Given the description of an element on the screen output the (x, y) to click on. 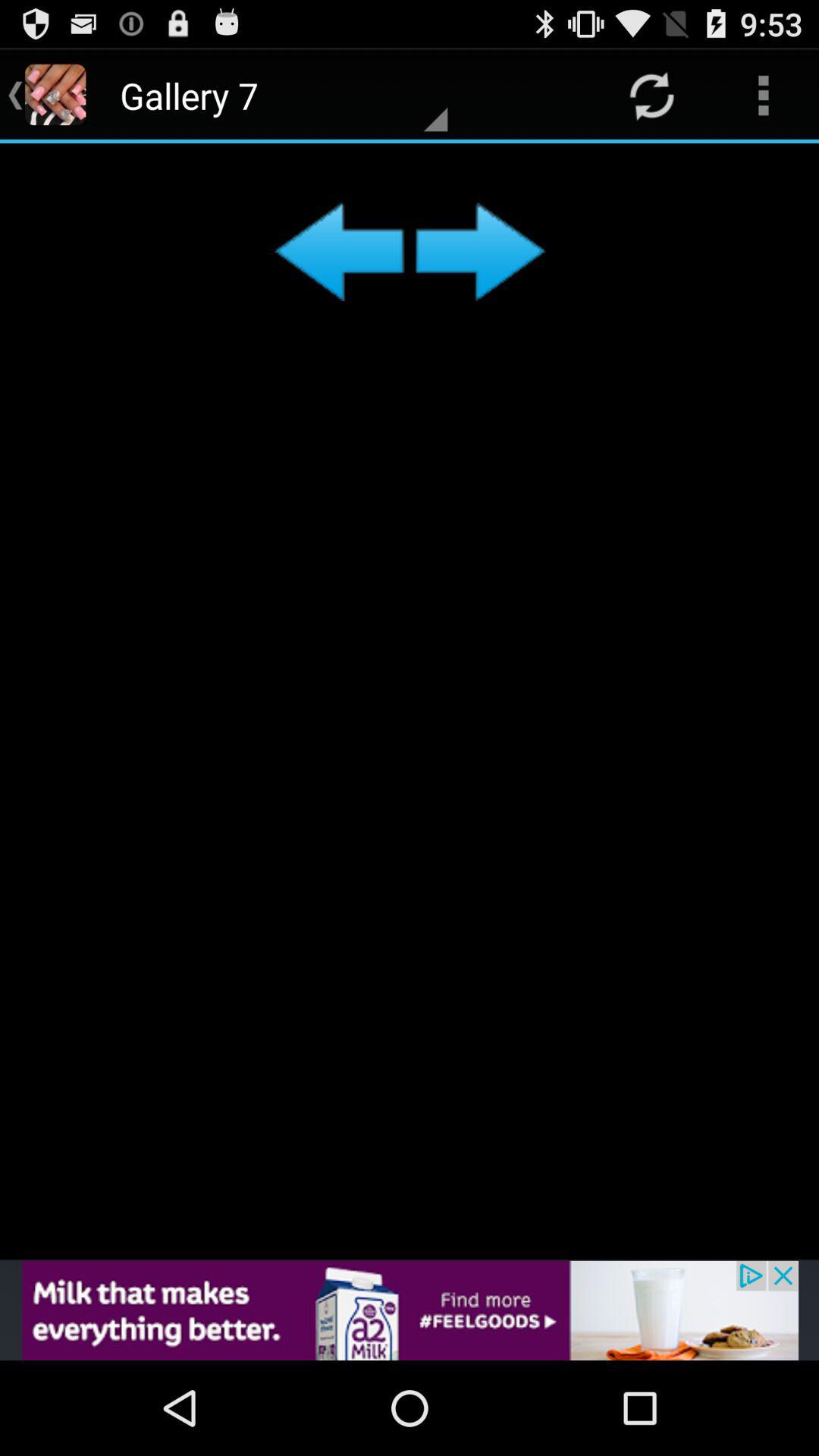
go to advertisement website (409, 1310)
